Given the description of an element on the screen output the (x, y) to click on. 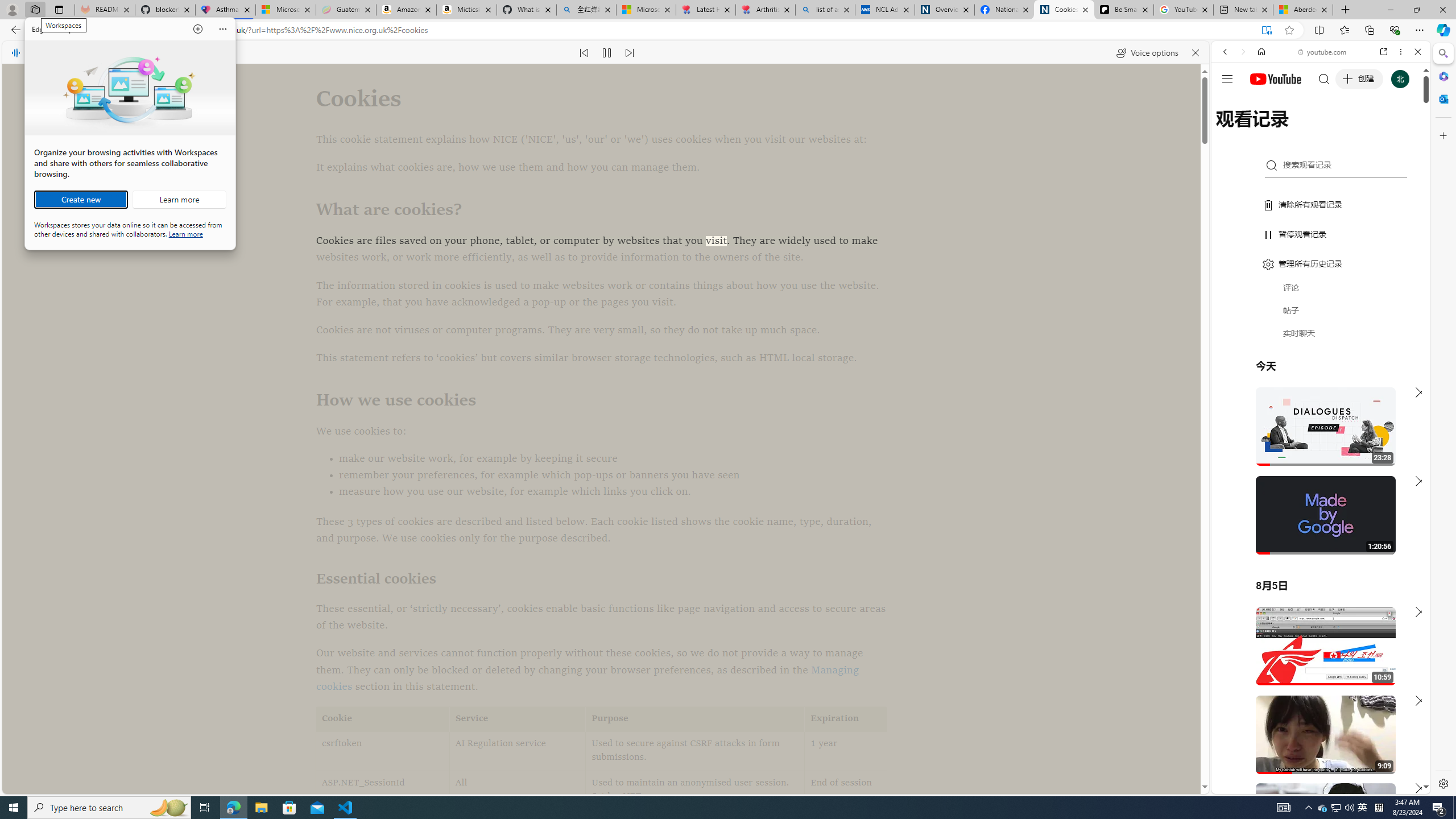
Task View (204, 807)
Click to scroll right (1407, 456)
Notification Chevron (1308, 807)
